Given the description of an element on the screen output the (x, y) to click on. 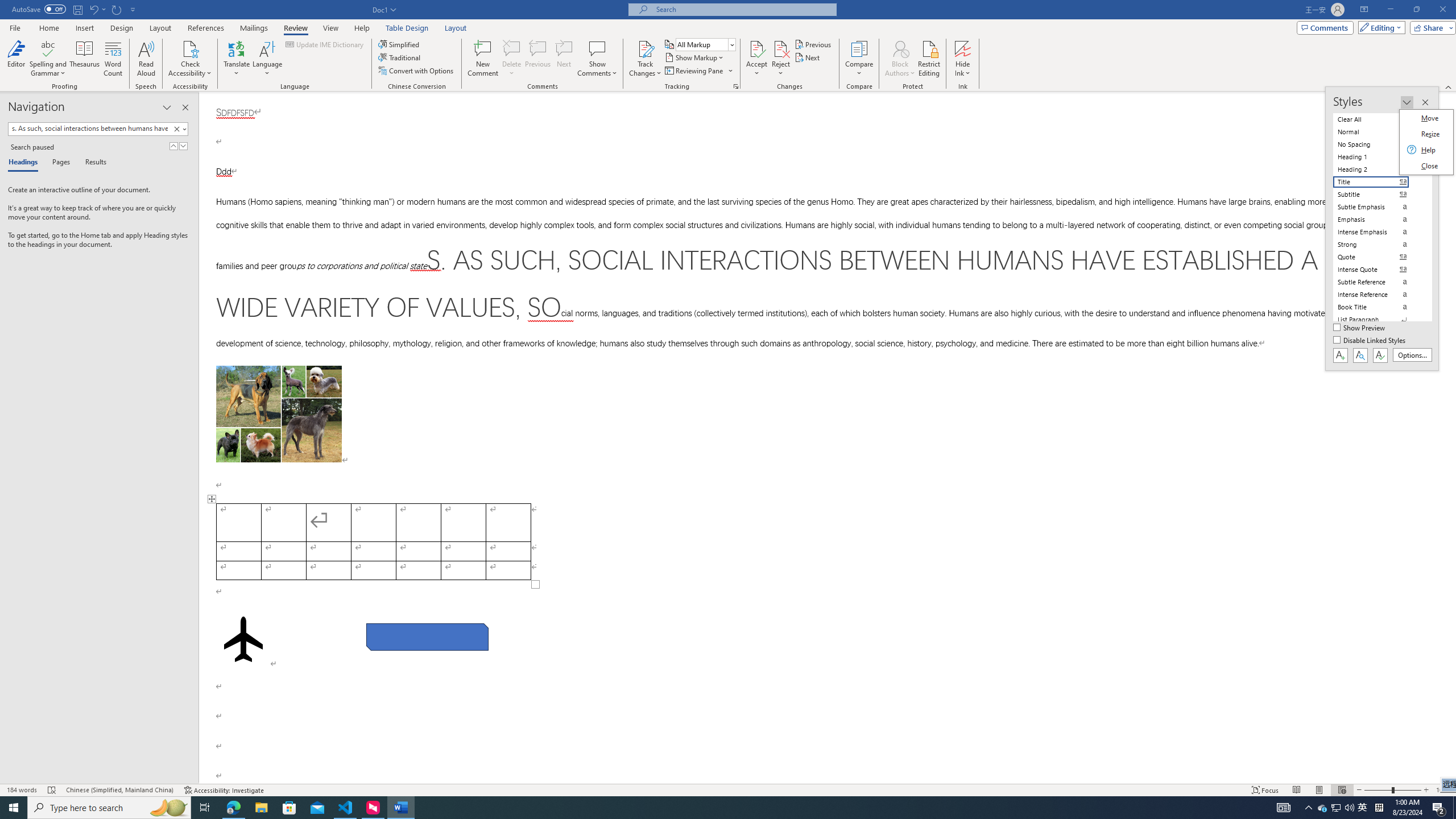
Options... (1412, 354)
Change Tracking Options... (735, 85)
Thesaurus... (84, 58)
Undo Style (92, 9)
New Comment (482, 58)
Intense Quote (1377, 269)
